Given the description of an element on the screen output the (x, y) to click on. 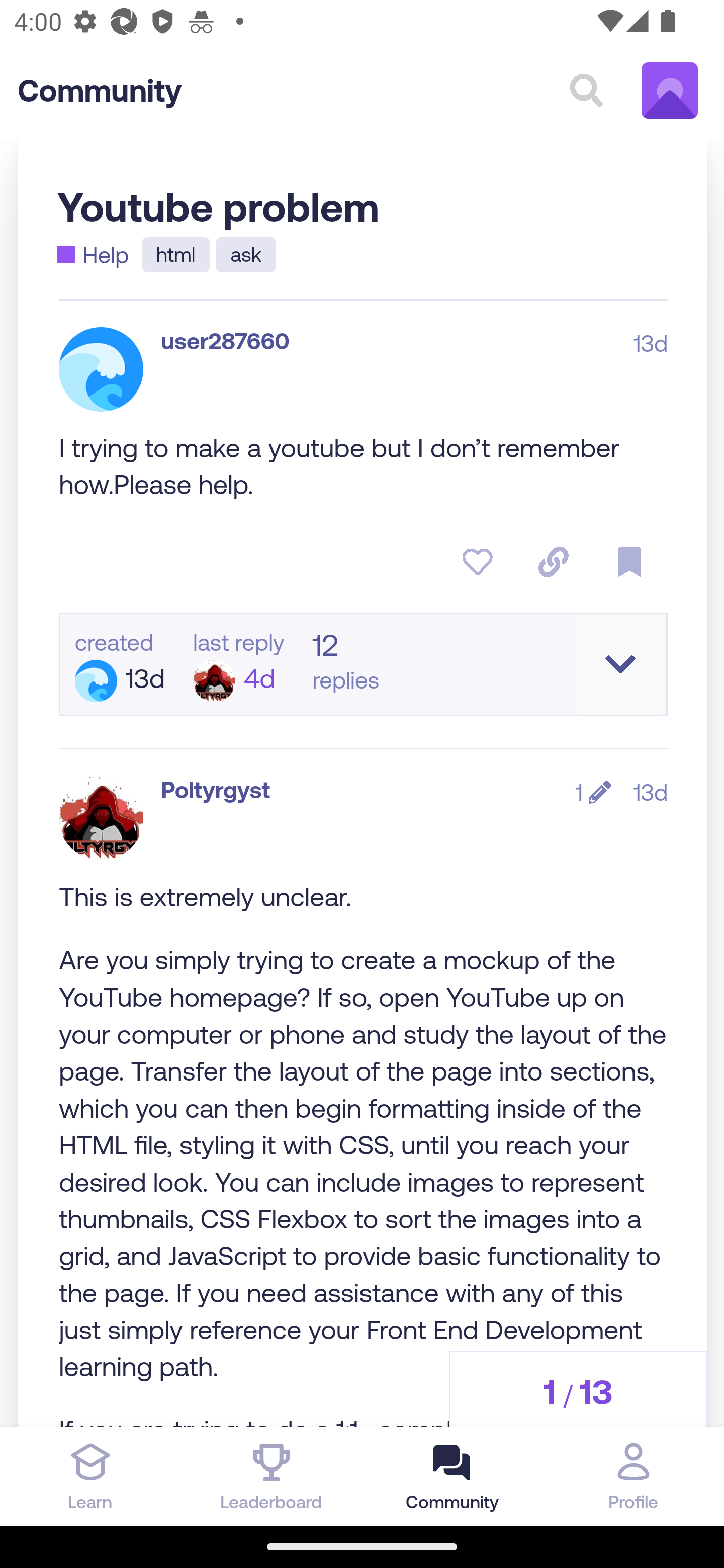
Search (586, 90)
Test Appium's account (669, 90)
Community (100, 90)
html (175, 254)
ask (245, 254)
user287660 (225, 339)
13d Jan 20, 2024 2:34 pm (650, 343)
like this post (477, 561)
copy a link to this post to clipboard (553, 561)
bookmark this post (629, 561)
expand topic details (619, 664)
last reply 4d last reply Jan 29, 2024 7:47 am (238, 665)
Poltyrgyst (215, 790)
post edit history (592, 792)
13d Jan 20, 2024 4:23 pm (650, 792)
topic progress 1 /   13 (577, 1389)
Learn (90, 1475)
Leaderboard (271, 1475)
Profile (633, 1475)
